Given the description of an element on the screen output the (x, y) to click on. 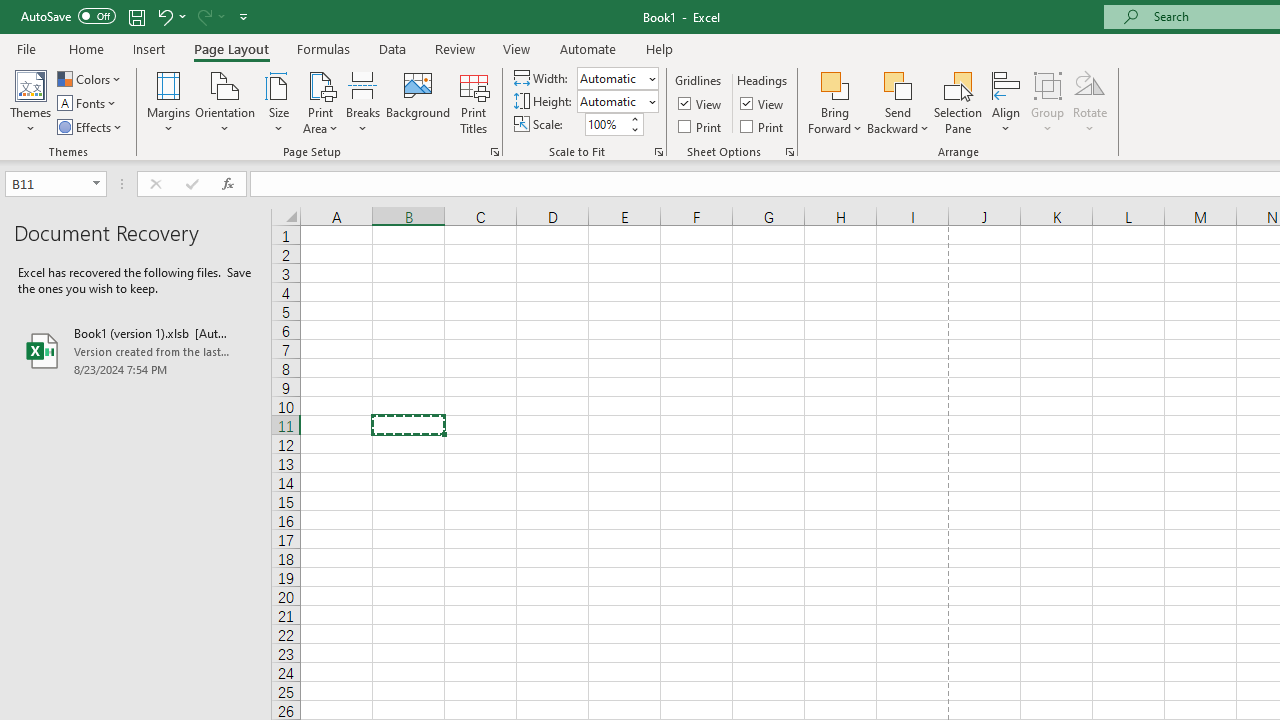
Automate (588, 48)
Print Titles (474, 102)
Colors (90, 78)
Less (633, 129)
Effects (91, 126)
Page Setup (658, 151)
More (633, 118)
Width (618, 78)
AutoSave (68, 16)
